Given the description of an element on the screen output the (x, y) to click on. 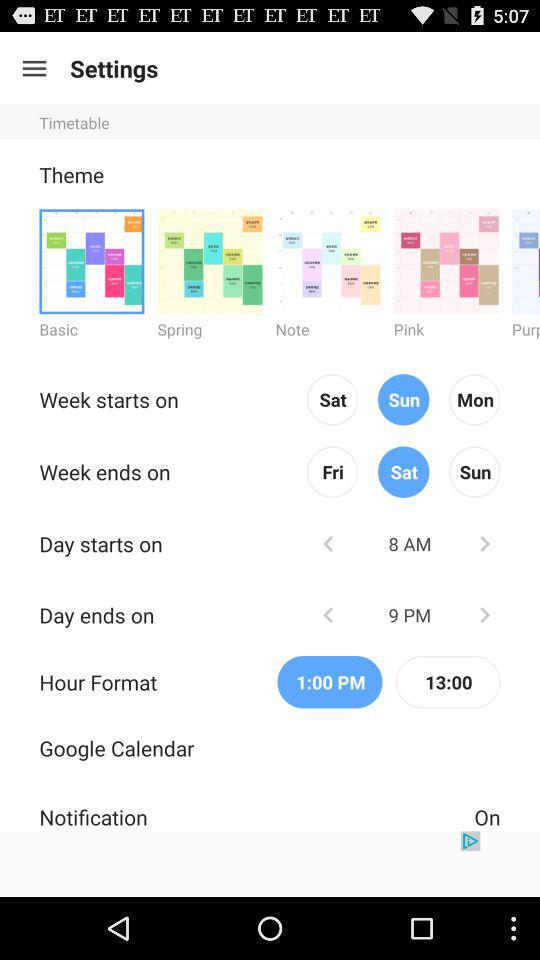
change selection to previous (328, 614)
